Given the description of an element on the screen output the (x, y) to click on. 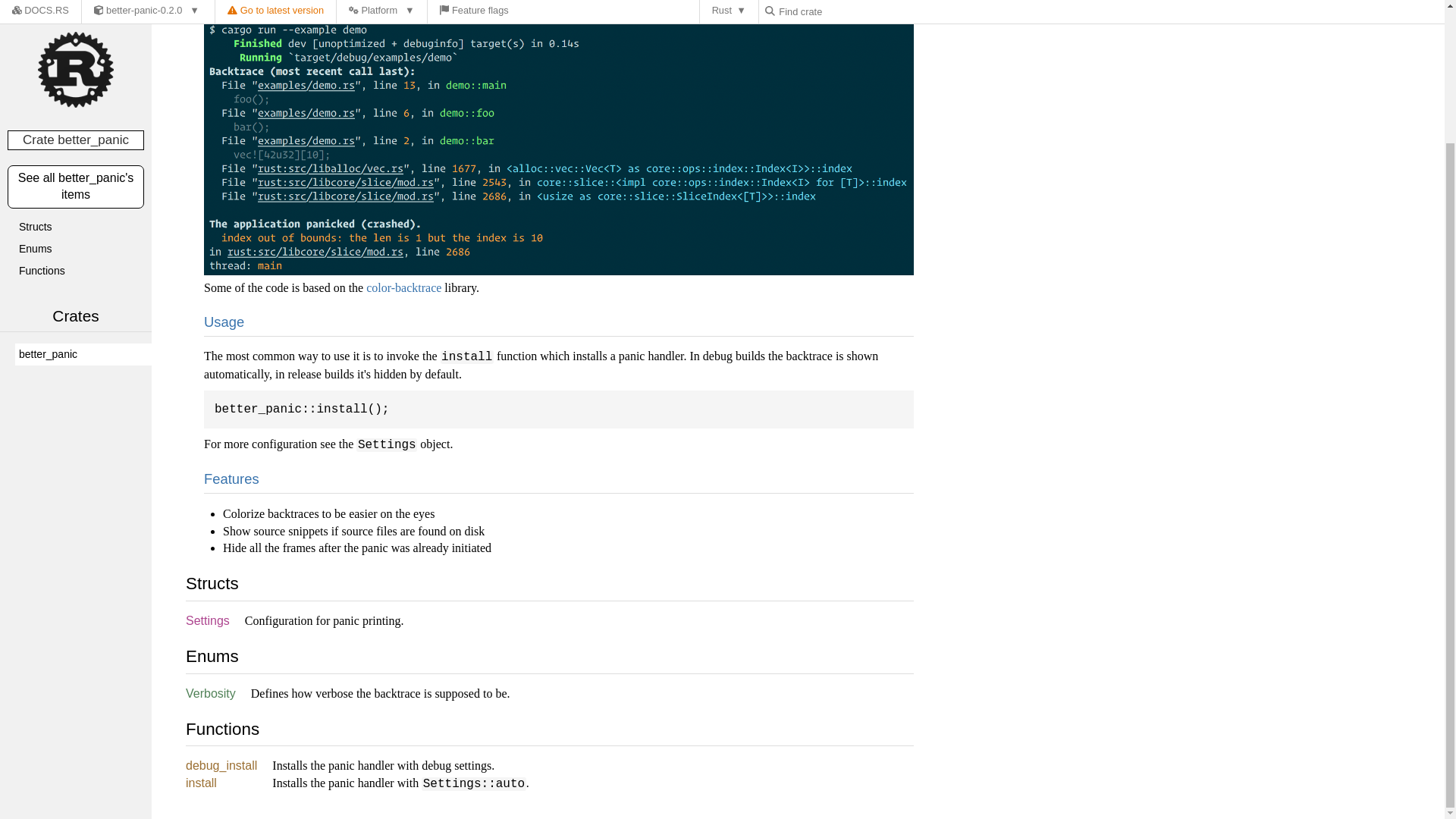
Enums (82, 86)
Structs (82, 65)
Functions (82, 108)
